Given the description of an element on the screen output the (x, y) to click on. 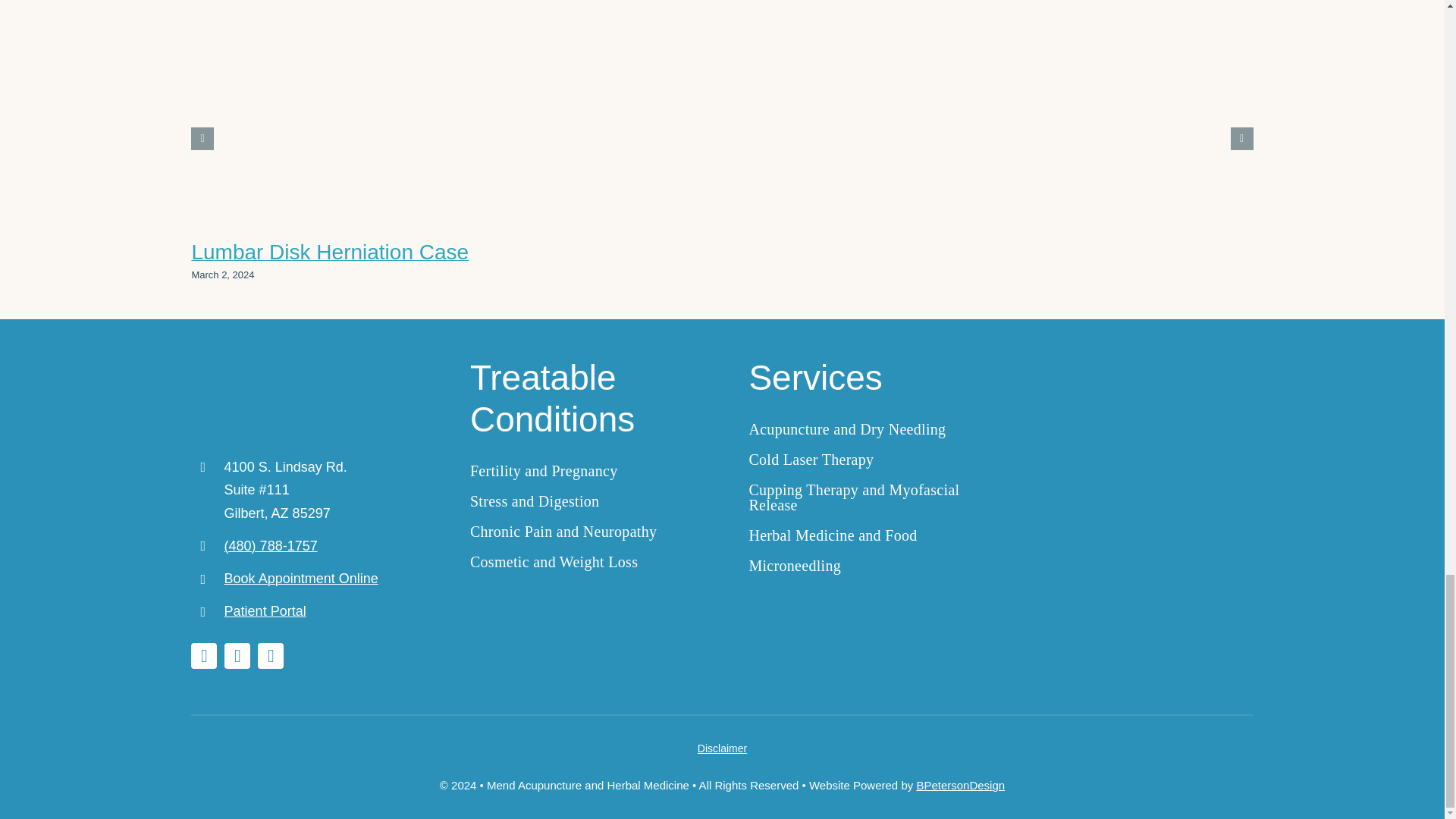
Lumbar Disk Herniation Case (329, 251)
Instagram (270, 655)
Facebook (237, 655)
Google Profile (203, 655)
